Given the description of an element on the screen output the (x, y) to click on. 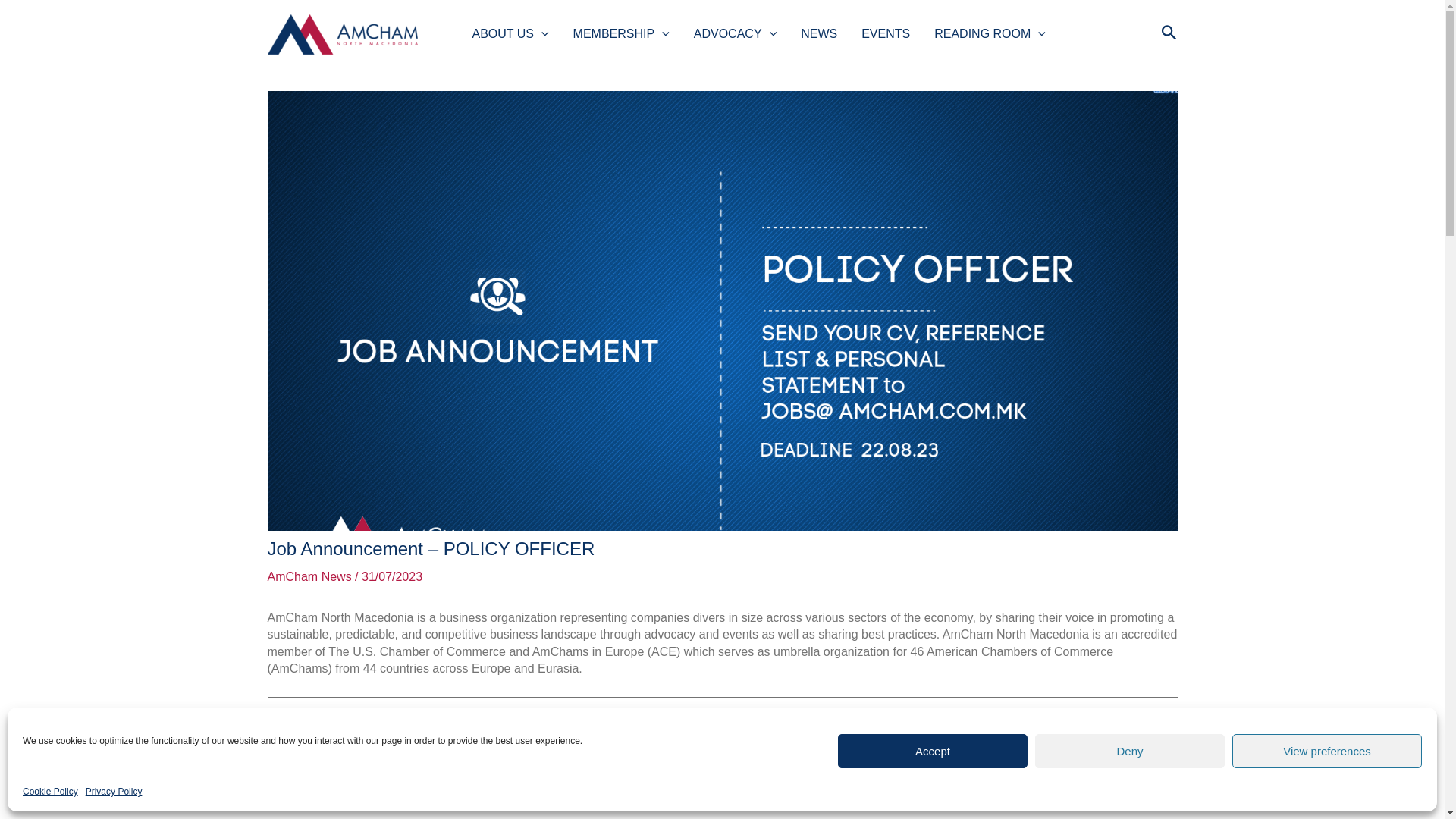
MEMBERSHIP (620, 33)
NEWS (818, 33)
ABOUT US (510, 33)
EVENTS (884, 33)
READING ROOM (989, 33)
ADVOCACY (735, 33)
